Given the description of an element on the screen output the (x, y) to click on. 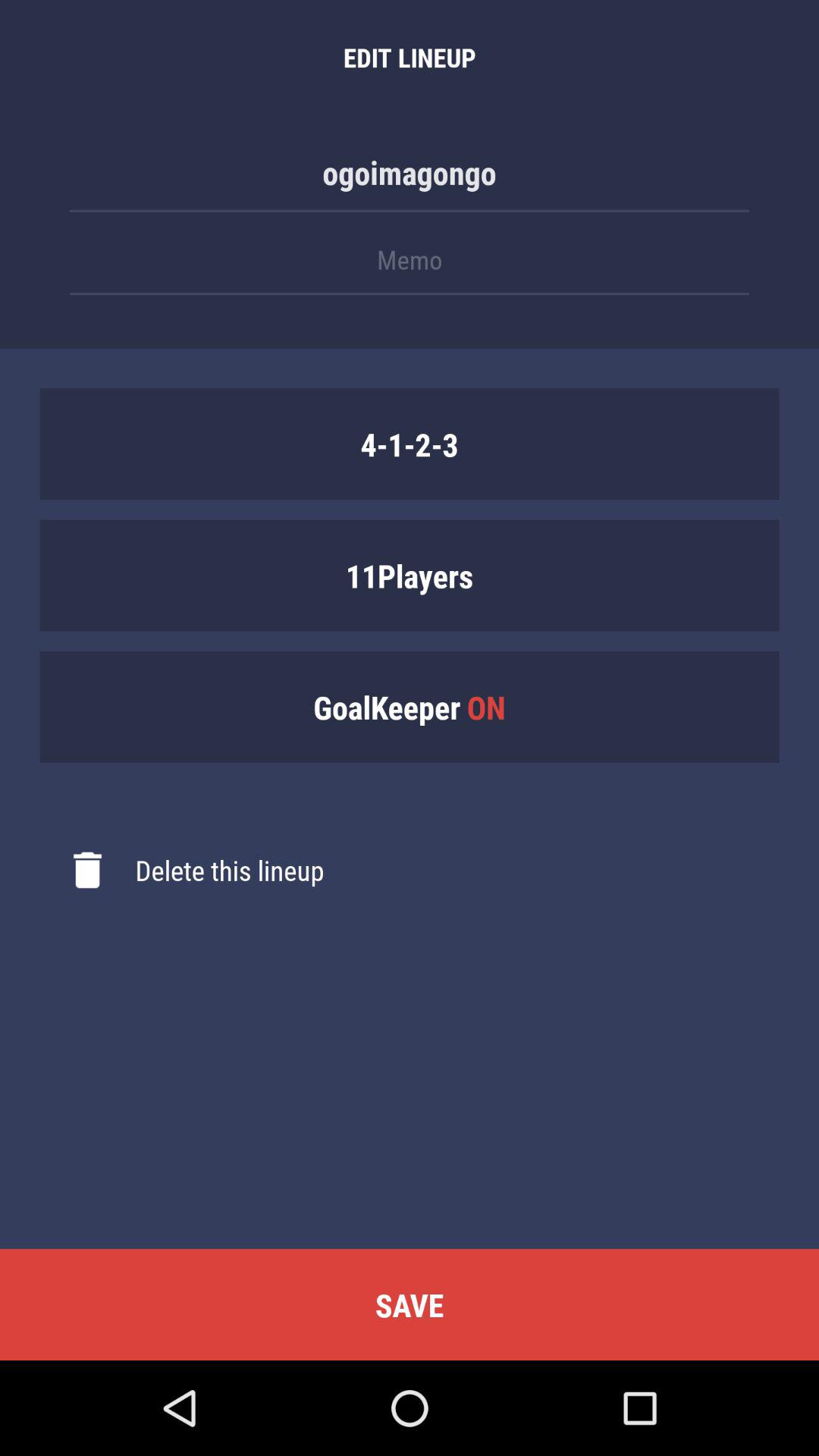
turn off icon above save icon (181, 869)
